Given the description of an element on the screen output the (x, y) to click on. 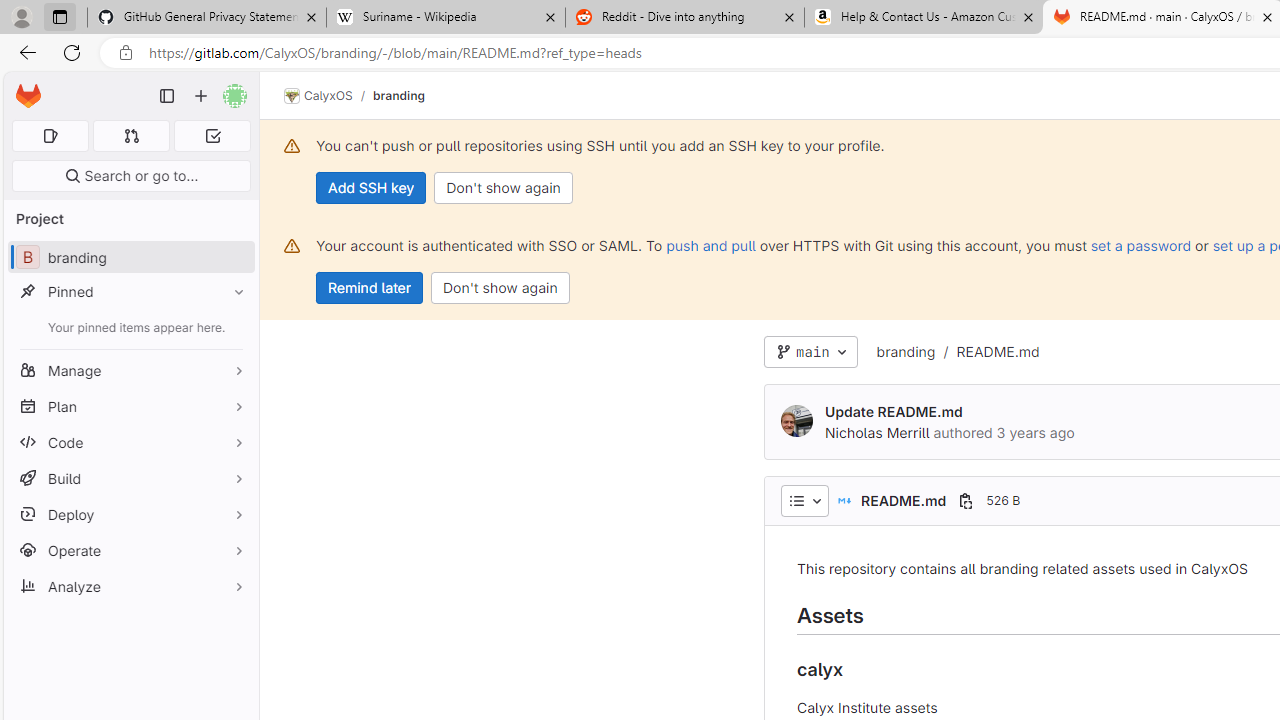
Operate (130, 550)
Build (130, 478)
Analyze (130, 586)
AutomationID: dropdown-toggle-btn-85 (804, 500)
Nicholas Merrill (877, 432)
GitHub General Privacy Statement - GitHub Docs (207, 17)
Deploy (130, 514)
Operate (130, 550)
Code (130, 442)
Suriname - Wikipedia (445, 17)
Create new... (201, 96)
Plan (130, 406)
Assigned issues 0 (50, 136)
branding (905, 351)
